Given the description of an element on the screen output the (x, y) to click on. 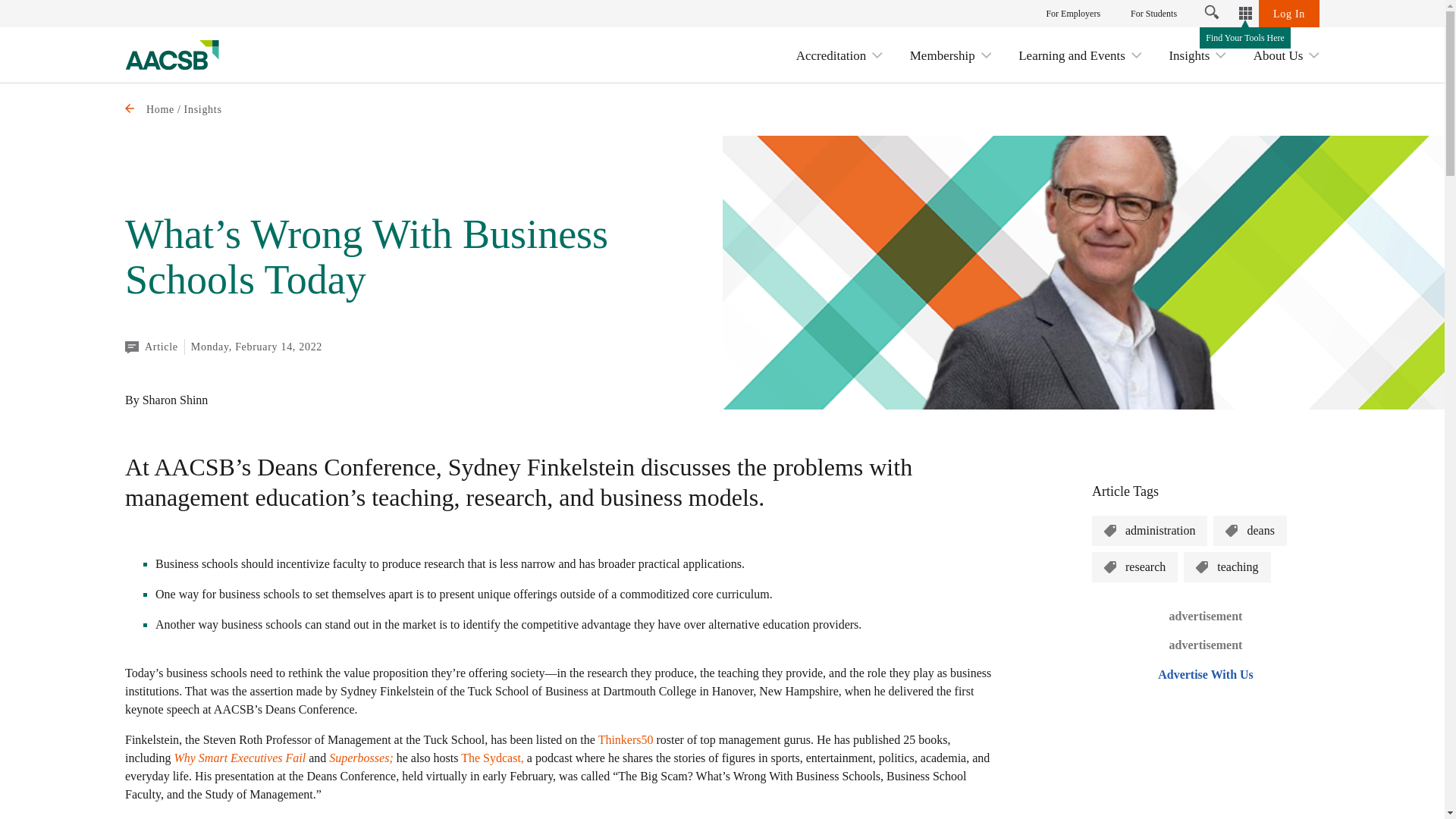
Log In (1289, 13)
Accreditation (839, 54)
For Students (1153, 13)
Article Icon (131, 345)
For Employers (1072, 13)
Membership (950, 54)
AACSB Home (172, 55)
Site search (1211, 13)
Learning and Events (1079, 54)
Insights (1197, 54)
